Given the description of an element on the screen output the (x, y) to click on. 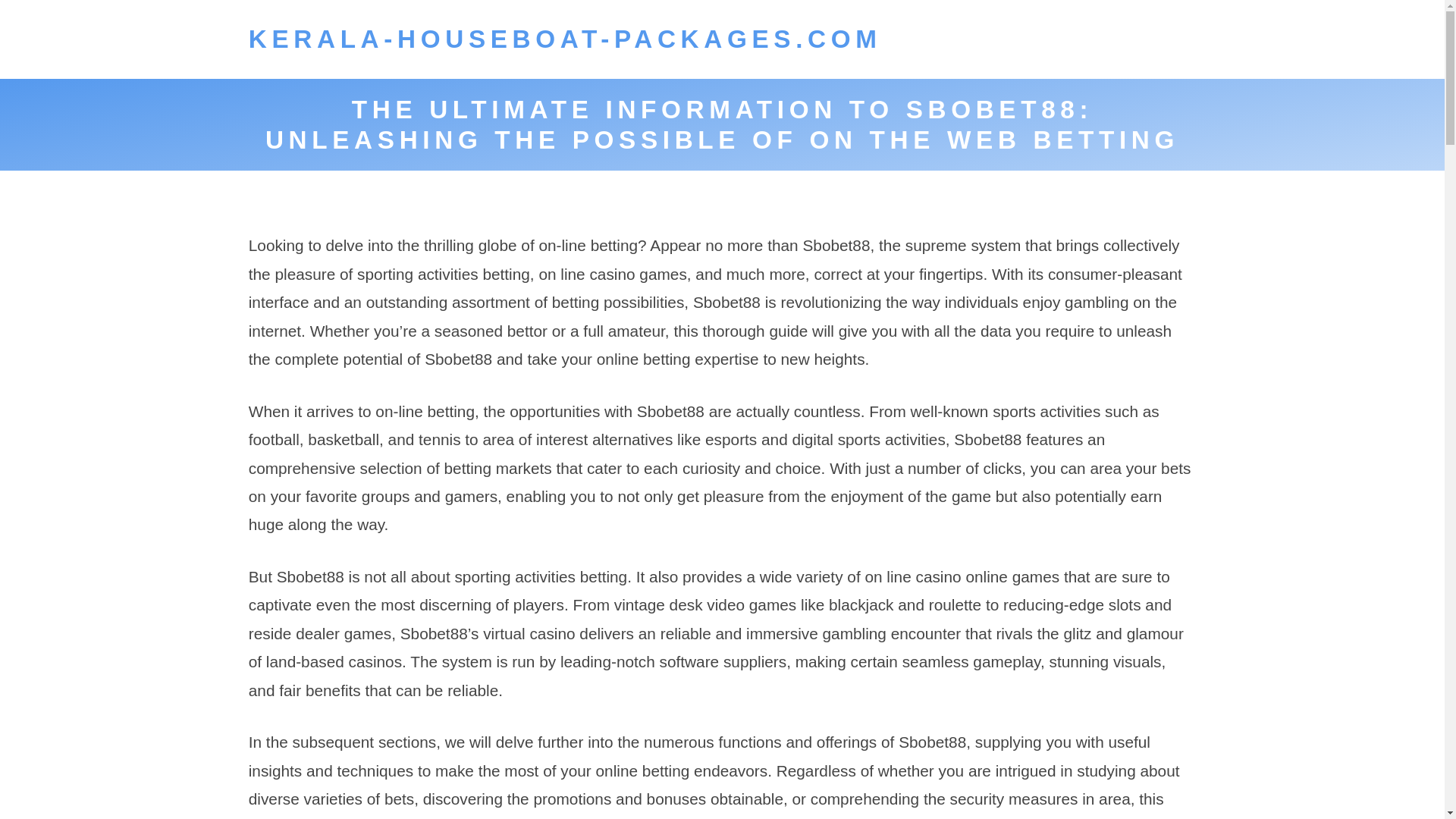
KERALA-HOUSEBOAT-PACKAGES.COM (565, 39)
